Given the description of an element on the screen output the (x, y) to click on. 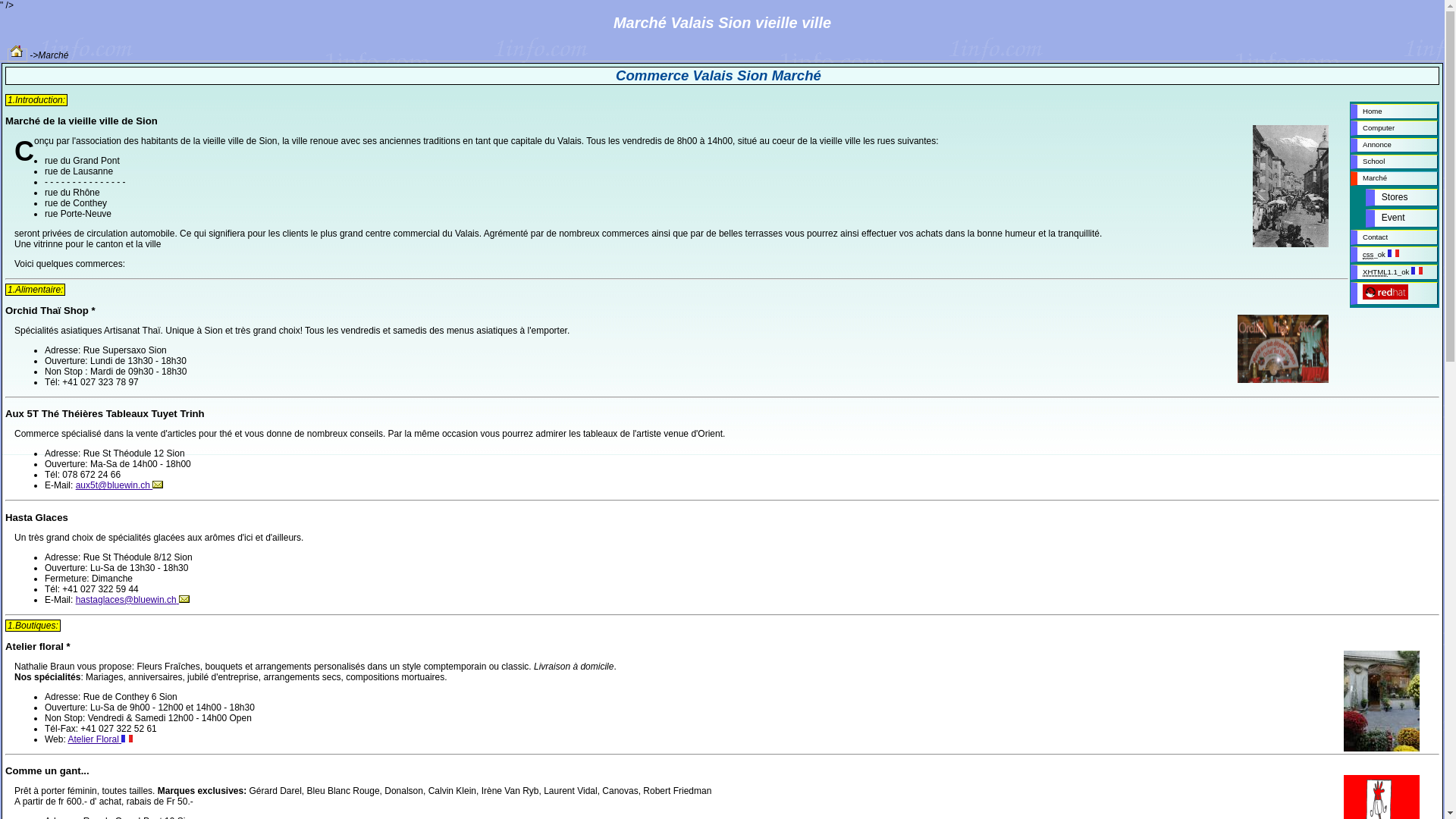
aux5t@bluewin.ch Element type: text (119, 485)
Hasta Glaces Element type: text (36, 517)
Comme un gant... Element type: text (47, 770)
Annonce Element type: text (1393, 145)
Atelier floral * Element type: text (37, 646)
home Element type: hover (17, 55)
Contact Element type: text (1393, 236)
XHTML1.1_ok Element type: text (1393, 271)
Powered by Element type: hover (1393, 293)
hastaglaces@bluewin.ch Element type: text (132, 599)
Computer Element type: text (1393, 127)
css_ok Element type: text (1393, 253)
School Element type: text (1393, 161)
Atelier Floral Element type: text (99, 739)
Home Element type: text (1393, 110)
Event Element type: text (1401, 218)
Stores Element type: text (1401, 197)
